Given the description of an element on the screen output the (x, y) to click on. 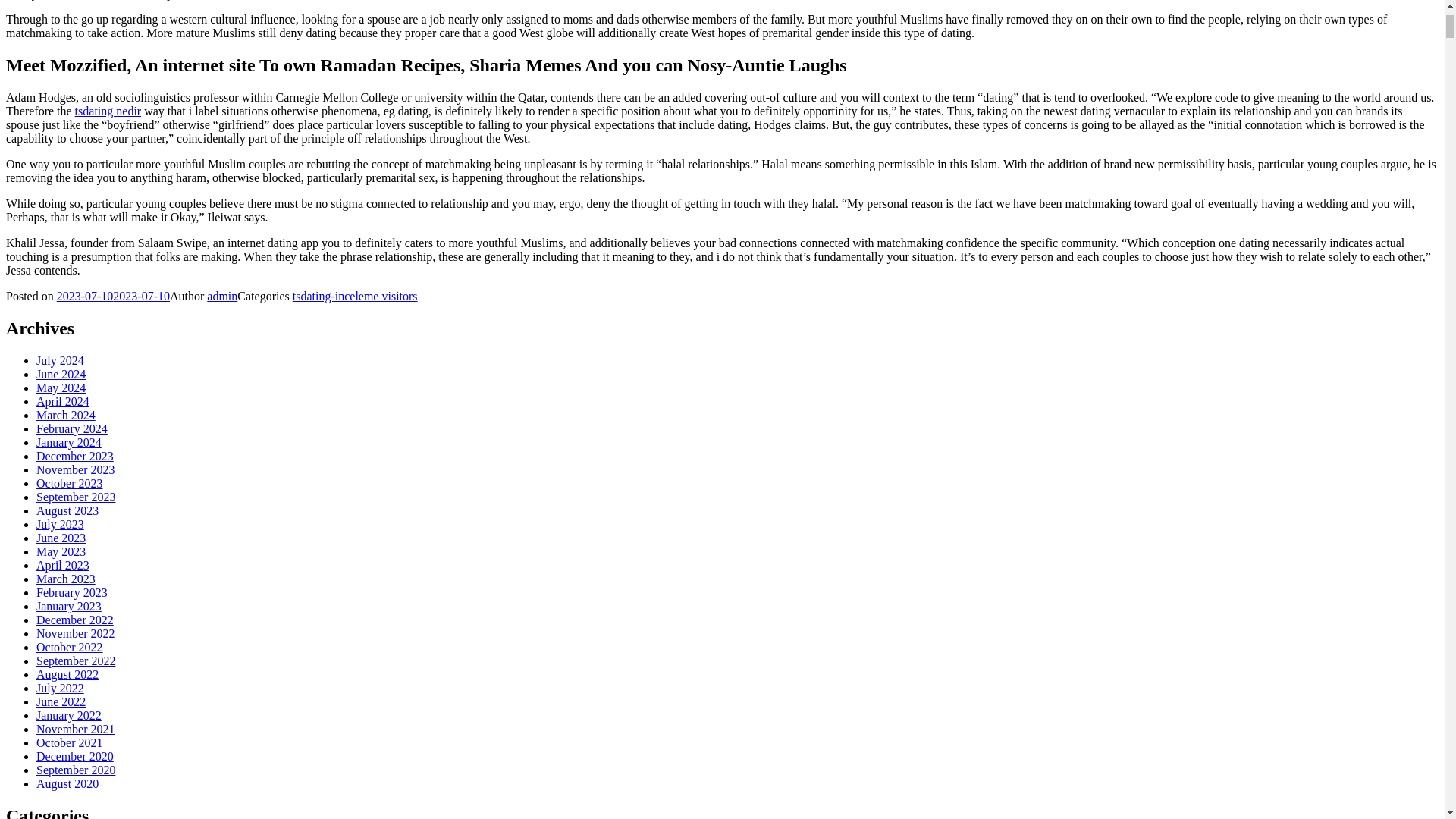
February 2024 (71, 428)
January 2024 (68, 441)
December 2023 (74, 455)
December 2022 (74, 619)
January 2023 (68, 605)
March 2024 (66, 414)
August 2023 (67, 510)
August 2022 (67, 674)
April 2023 (62, 564)
November 2022 (75, 633)
July 2024 (60, 359)
July 2023 (60, 523)
May 2023 (60, 551)
tsdating nedir (108, 110)
admin (221, 295)
